Given the description of an element on the screen output the (x, y) to click on. 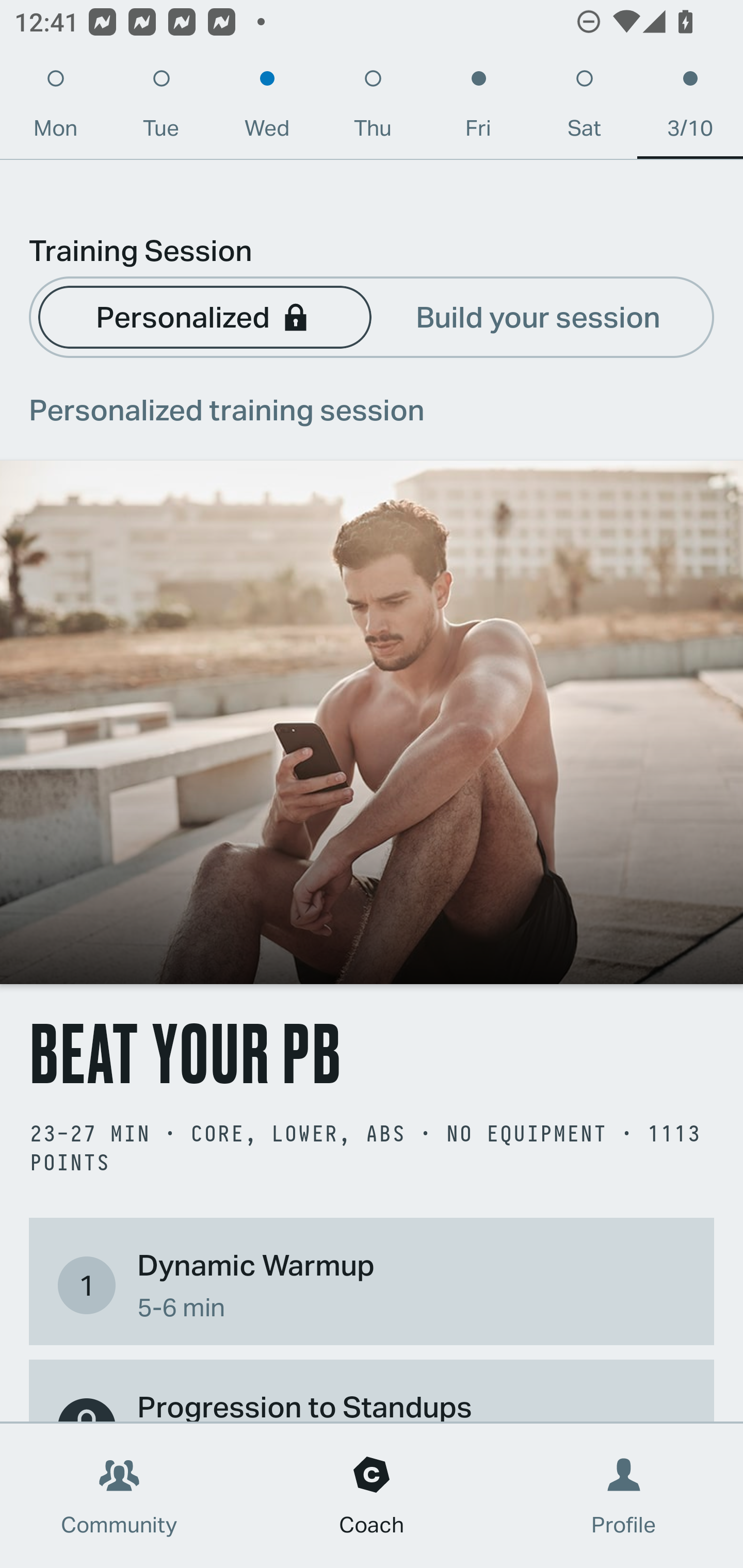
Mon (55, 108)
Tue (160, 108)
Wed (266, 108)
Thu (372, 108)
Fri (478, 108)
Sat (584, 108)
3/10 (690, 108)
Personalized (204, 315)
Build your session (538, 315)
1 Dynamic Warmup 5-6 min (371, 1284)
Community (119, 1495)
Profile (624, 1495)
